Given the description of an element on the screen output the (x, y) to click on. 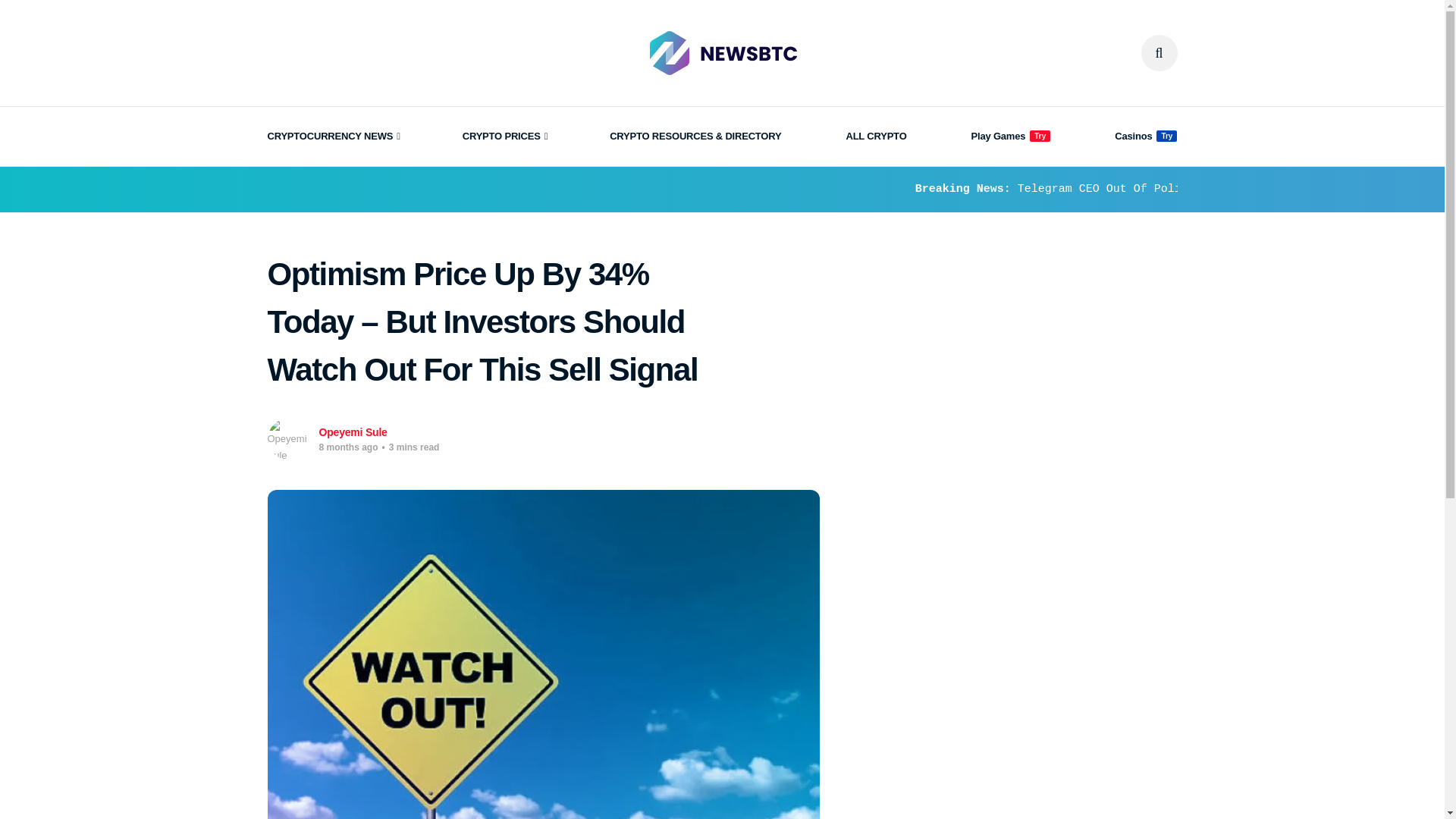
CRYPTOCURRENCY NEWS (331, 136)
ALL CRYPTO (875, 136)
CRYPTO PRICES (503, 136)
